Given the description of an element on the screen output the (x, y) to click on. 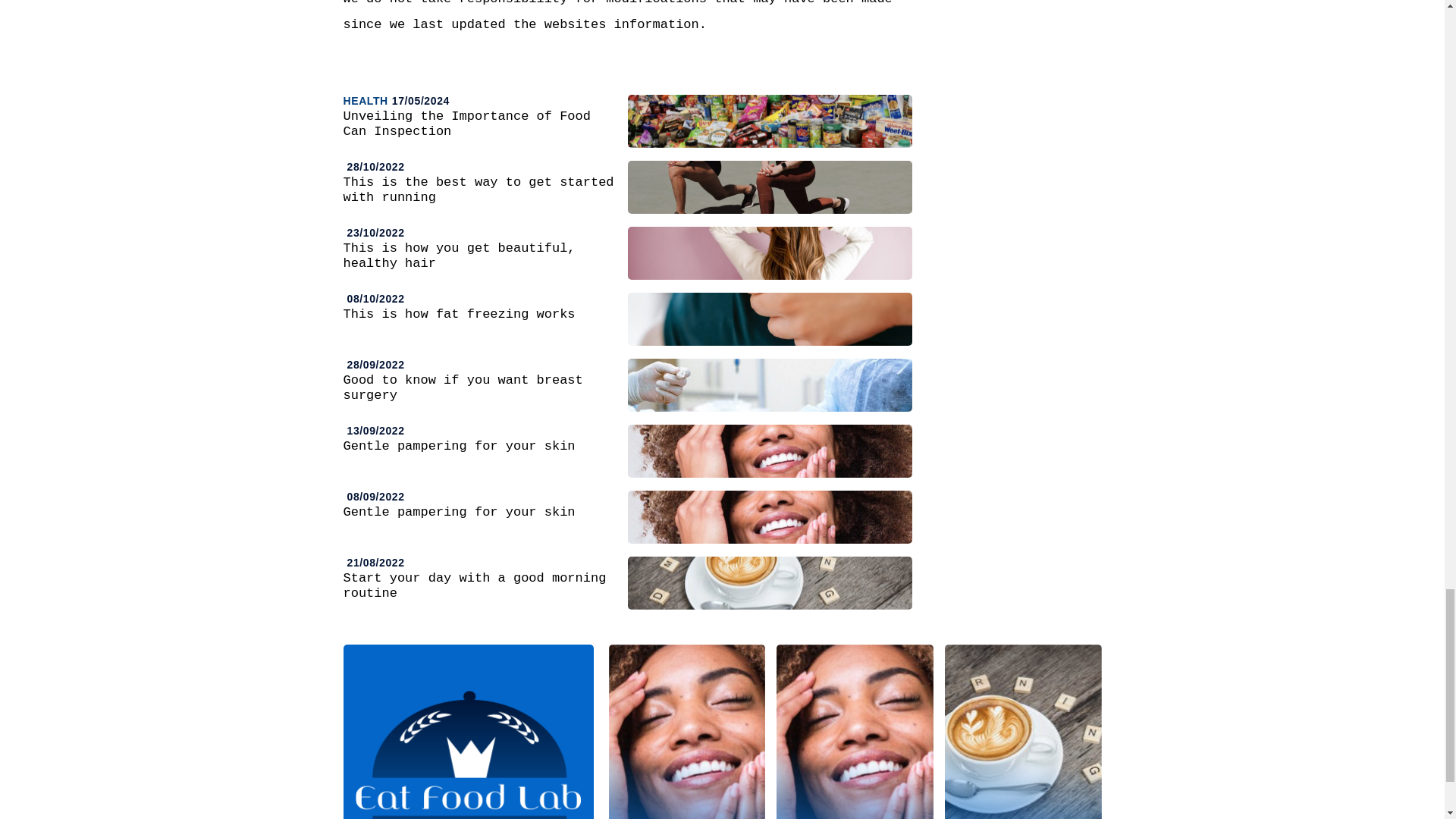
Gentle pampering for your skin (686, 731)
Gentle pampering for your skin (854, 731)
Start your day with a good morning routine (1023, 731)
